Given the description of an element on the screen output the (x, y) to click on. 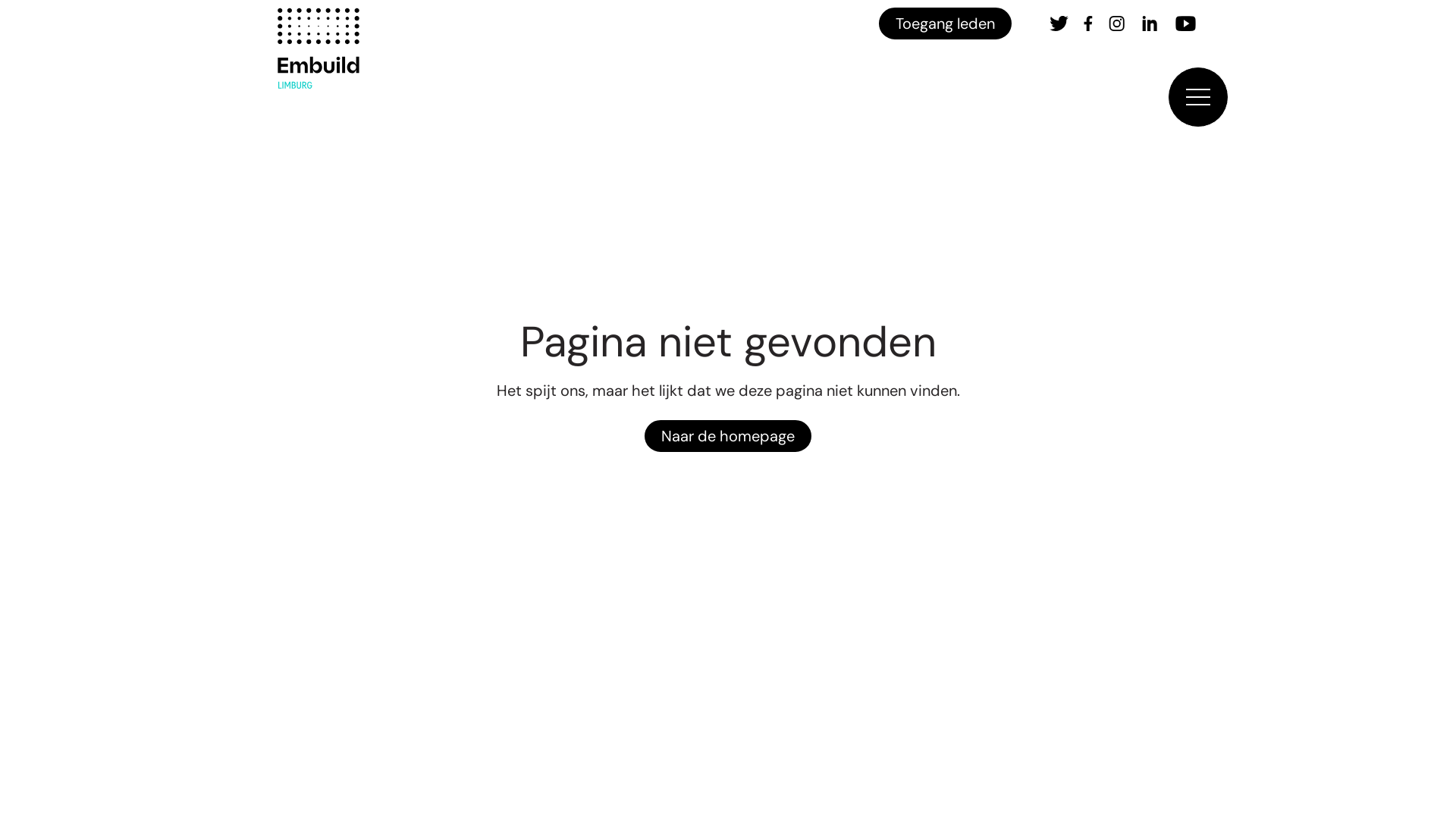
Instagram Element type: hover (1116, 23)
LinkedIn Element type: hover (1149, 23)
Facebook Element type: hover (1087, 23)
Youtube Element type: hover (1185, 23)
Twitter Element type: hover (1058, 23)
Overslaan en naar de inhoud gaan Element type: text (16, 4)
Naar de homepage Element type: text (727, 435)
Toegang leden Element type: text (944, 23)
